Given the description of an element on the screen output the (x, y) to click on. 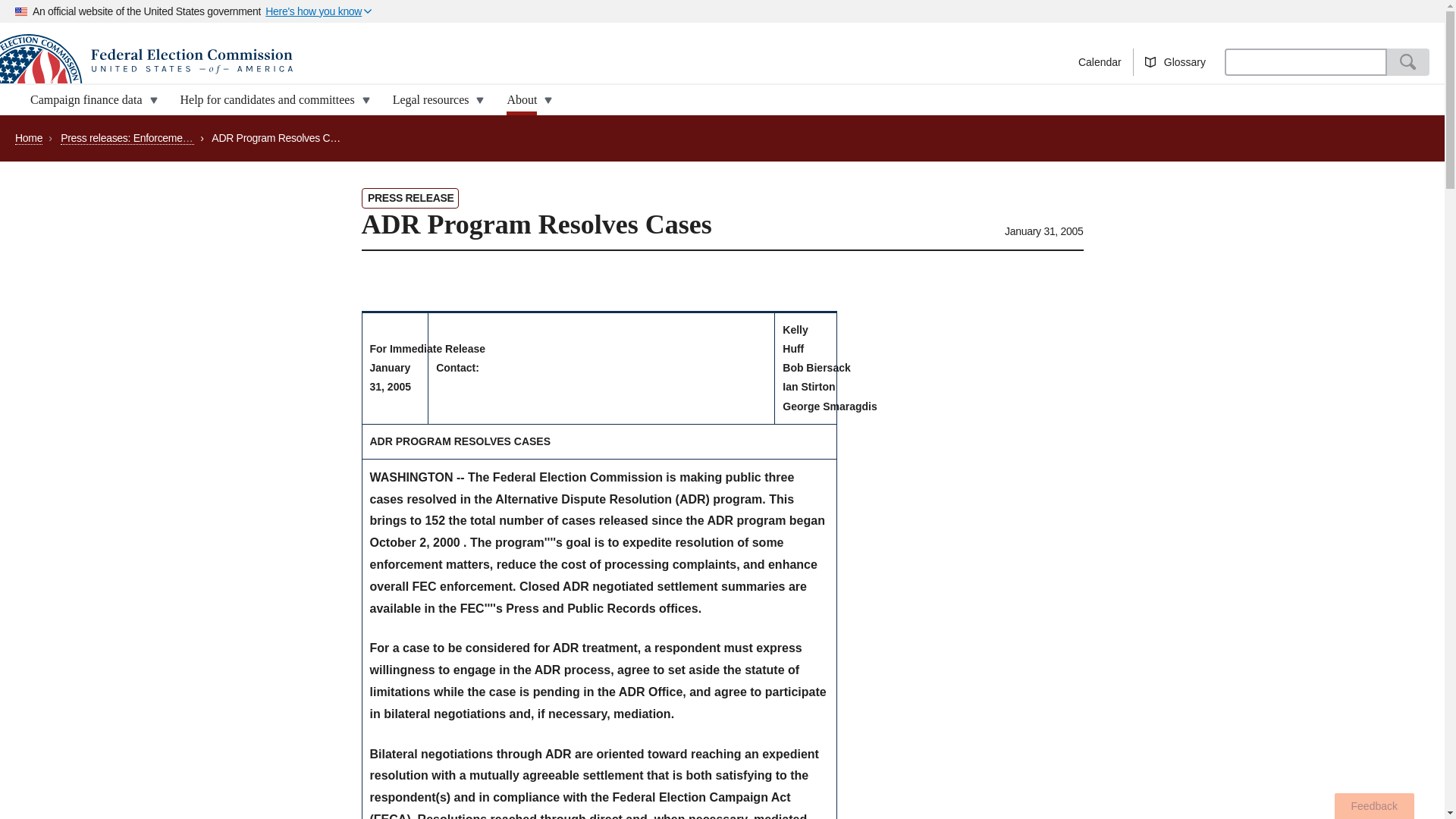
Glossary (1174, 61)
Help for candidates and committees (271, 100)
About (525, 100)
Home (361, 61)
Legal resources (434, 100)
Calendar (1099, 61)
Campaign finance data (89, 100)
